Given the description of an element on the screen output the (x, y) to click on. 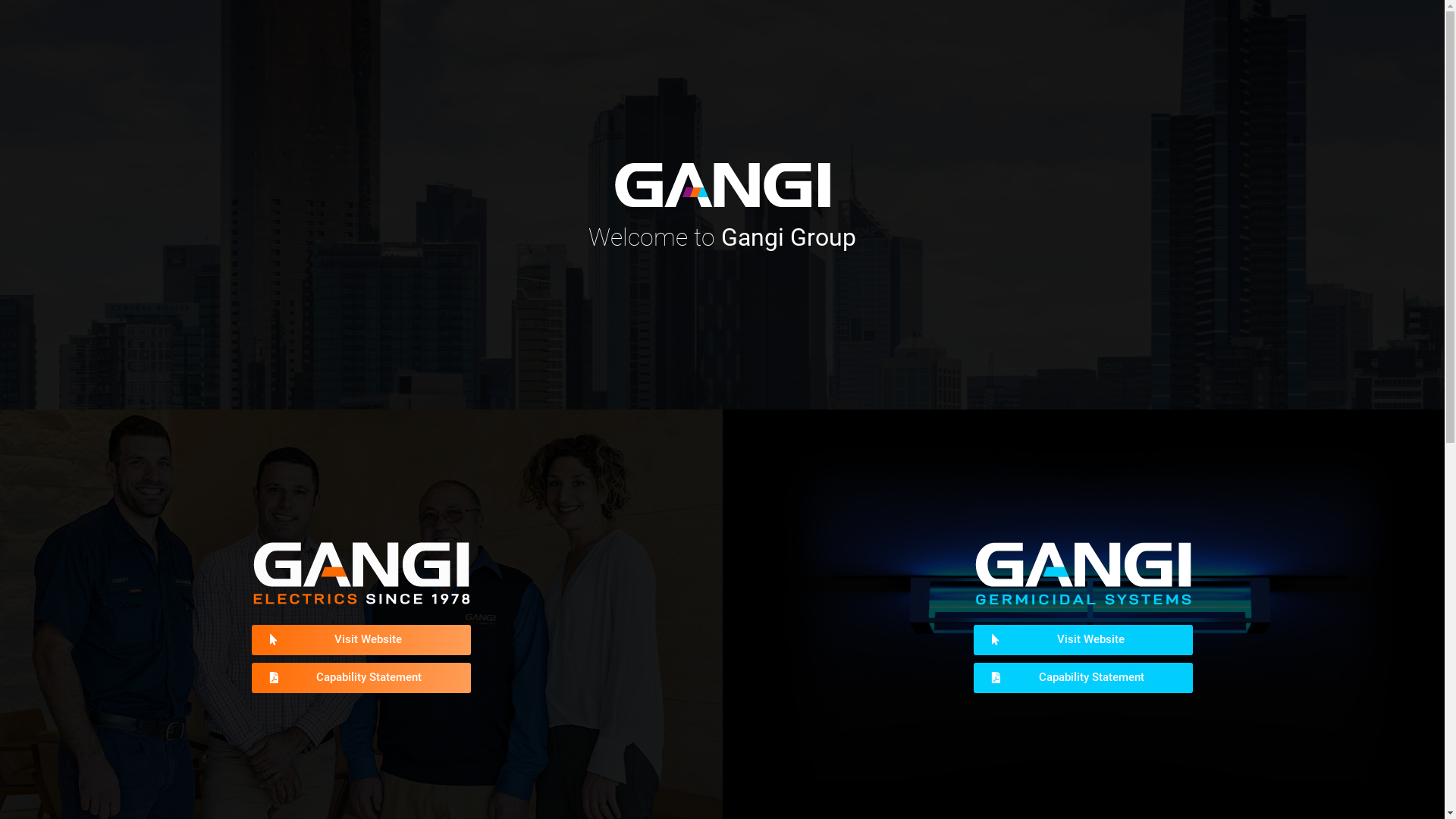
Capability Statement Element type: text (360, 677)
Visit Website Element type: text (1082, 639)
Capability Statement Element type: text (1082, 677)
Visit Website Element type: text (360, 639)
